Given the description of an element on the screen output the (x, y) to click on. 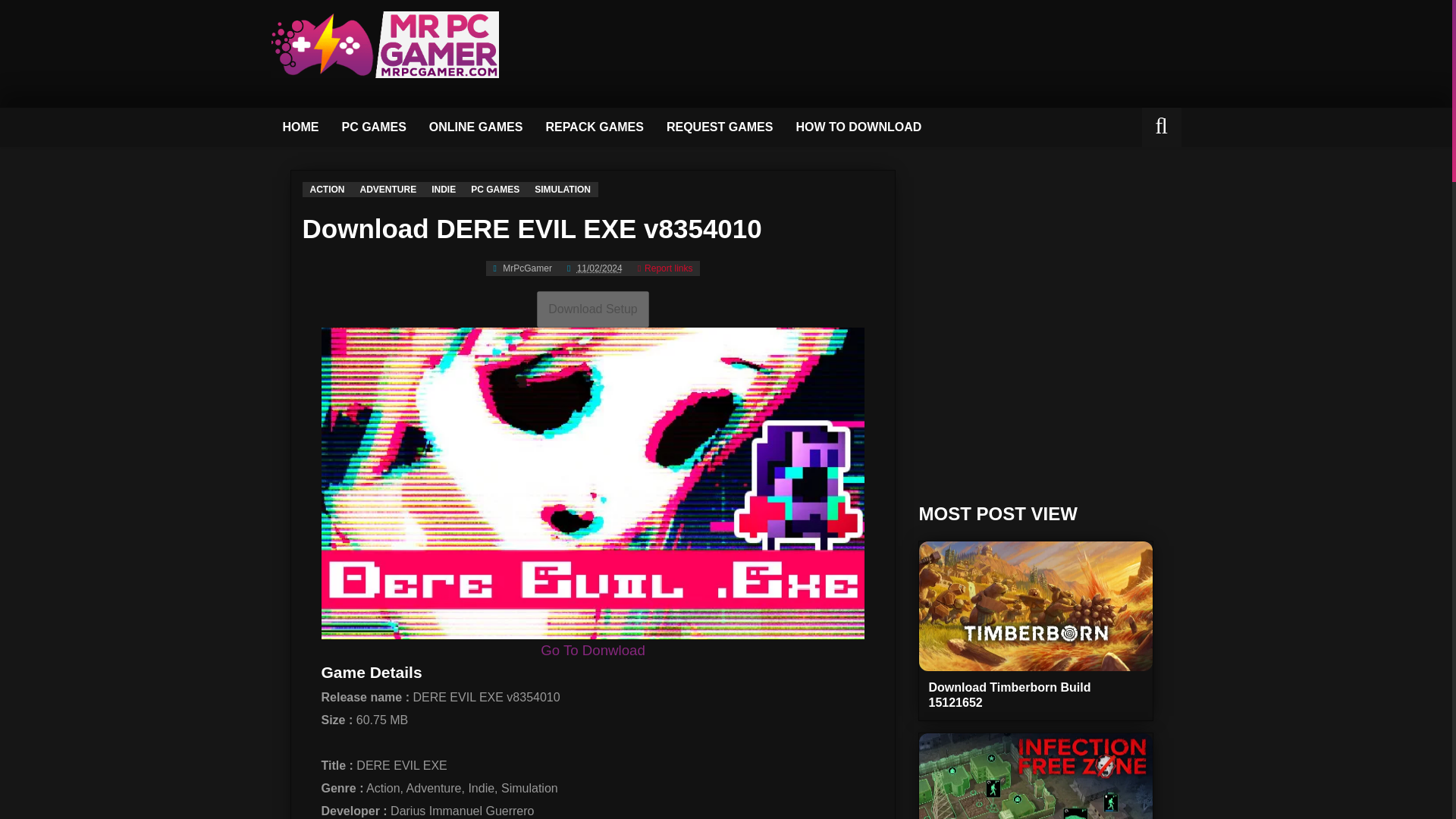
HOME (300, 127)
PC GAMES (373, 127)
HOW TO DOWNLOAD (858, 127)
Adventure (387, 189)
ADVENTURE (387, 189)
SIMULATION (562, 189)
PC GAMES (495, 189)
REQUEST GAMES (719, 127)
Go To Donwload (592, 650)
Action (326, 189)
Download Setup (592, 308)
author profile (522, 267)
ACTION (326, 189)
INDIE (443, 189)
REPACK GAMES (594, 127)
